Given the description of an element on the screen output the (x, y) to click on. 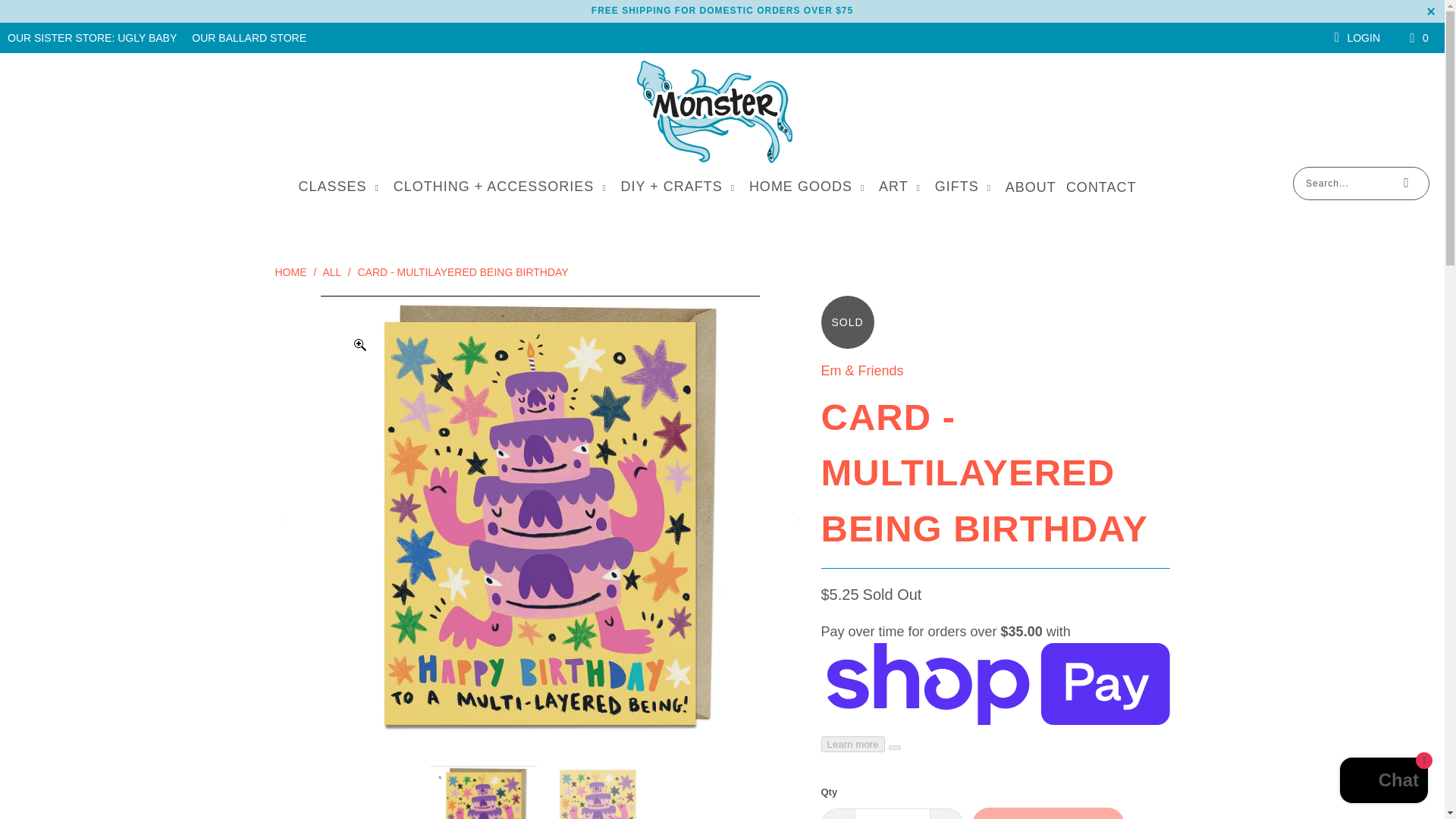
1 (891, 813)
My Account  (1353, 38)
Monster (714, 113)
